Given the description of an element on the screen output the (x, y) to click on. 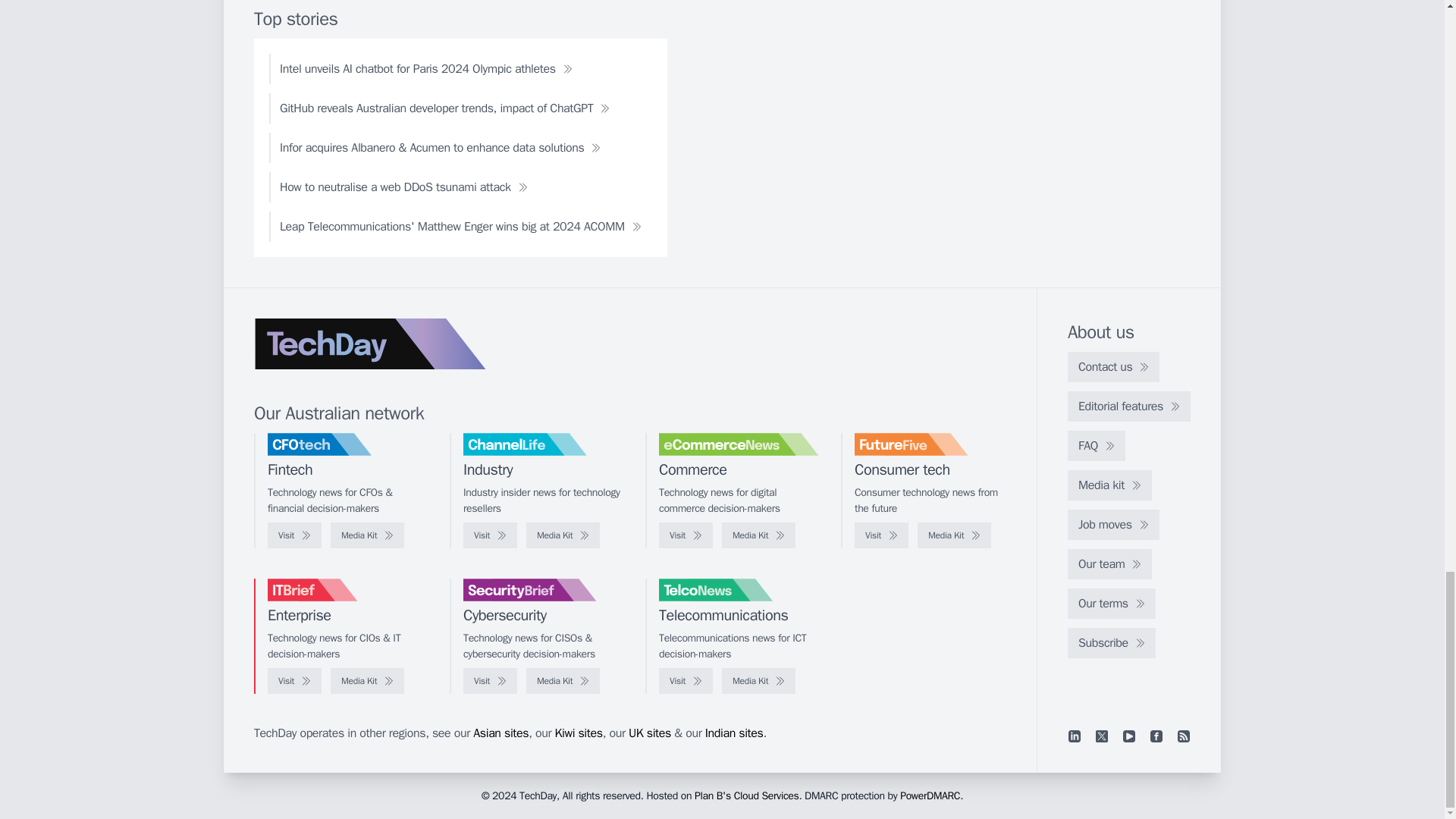
How to neutralise a web DDoS tsunami attack (403, 186)
Visit (294, 534)
Media Kit (367, 534)
Intel unveils AI chatbot for Paris 2024 Olympic athletes (426, 69)
Visit (881, 534)
Visit (489, 534)
Media Kit (562, 534)
Media Kit (954, 534)
Visit (686, 534)
Media Kit (758, 534)
